Given the description of an element on the screen output the (x, y) to click on. 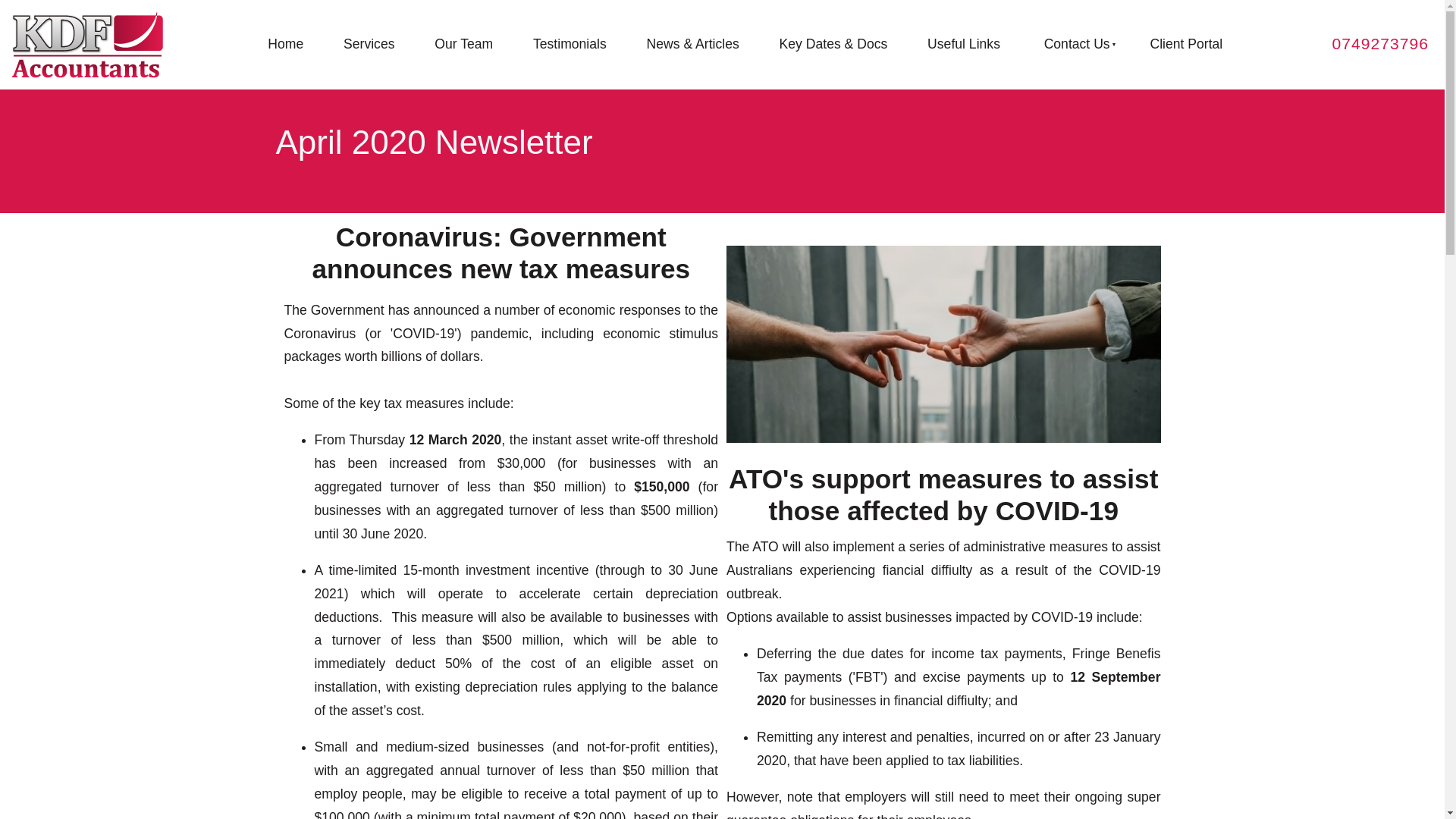
Contact Us (1074, 44)
Testimonials (570, 44)
0749273796 (1380, 44)
Client Portal (1186, 44)
Services (368, 44)
Home (285, 44)
Useful Links (963, 44)
Our Team (463, 44)
